Given the description of an element on the screen output the (x, y) to click on. 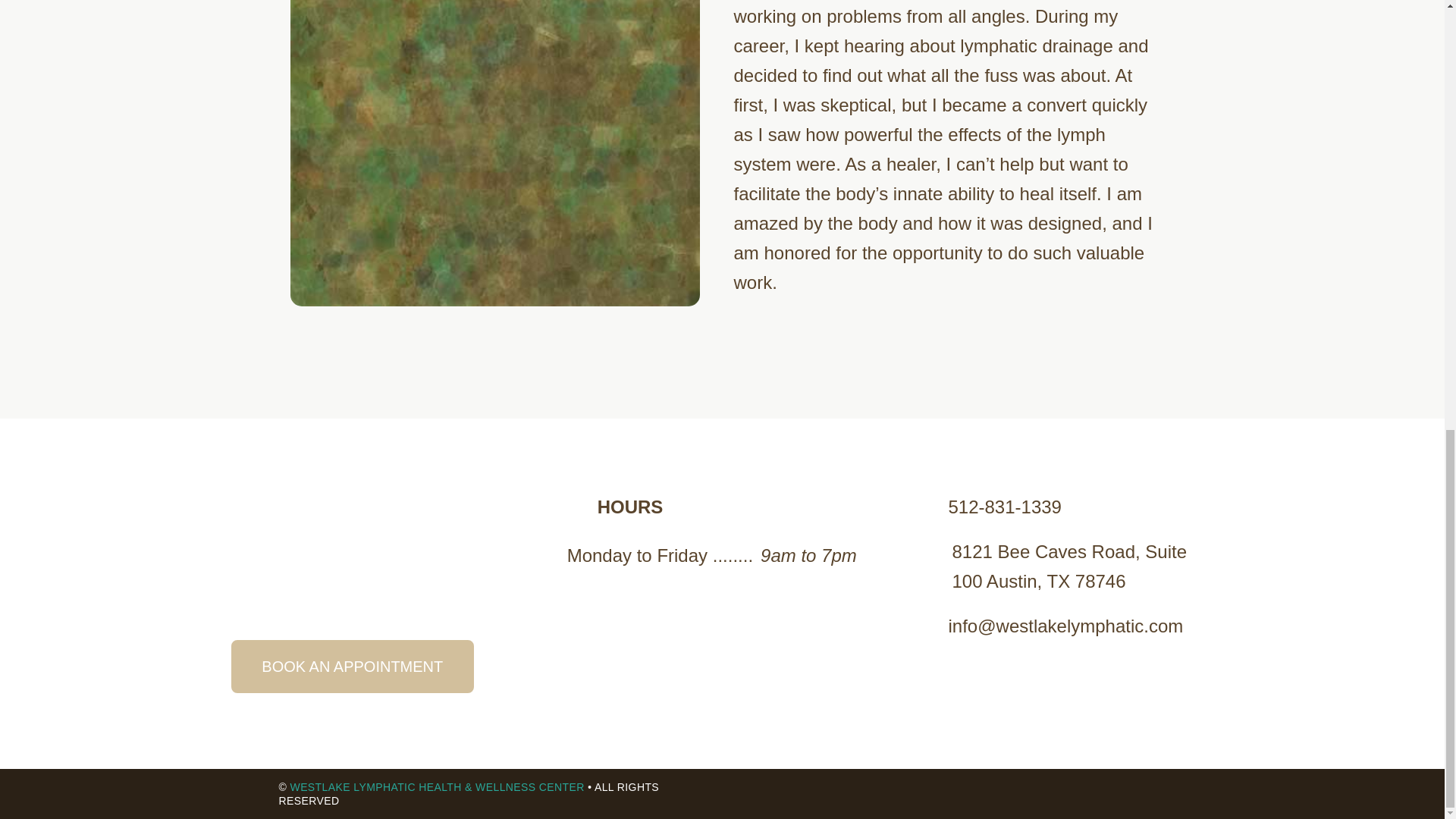
8121 Bee Caves Road, Suite 100 Austin, TX 78746 (1057, 566)
Email Us (1042, 625)
BOOK AN APPOINTMENT (352, 665)
Westlake Lymphatic Health and Wellness Center (437, 787)
Call Us (981, 506)
Visit Us (1057, 566)
512-831-1339 (981, 506)
